Given the description of an element on the screen output the (x, y) to click on. 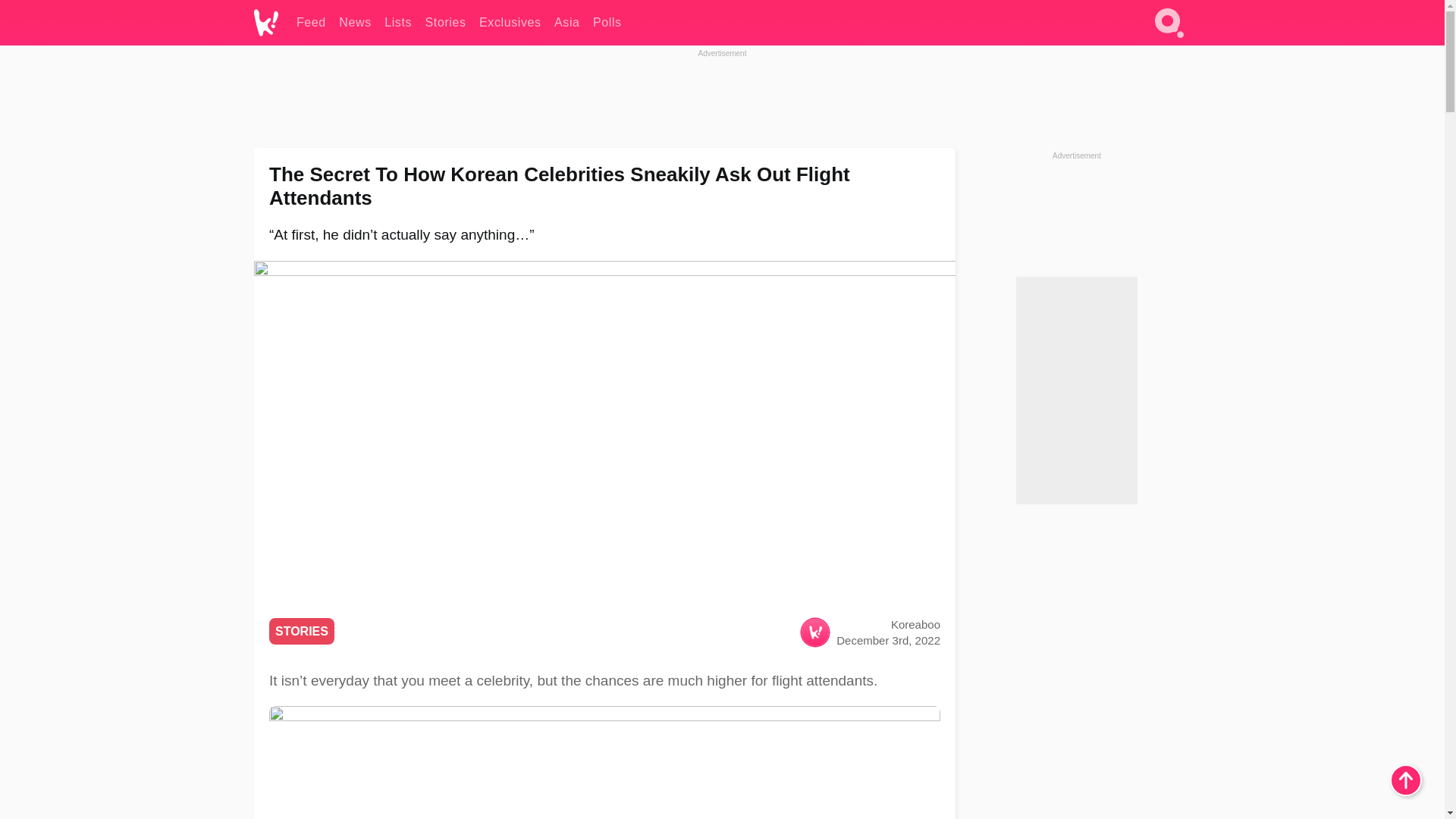
STORIES (301, 631)
Stories (445, 22)
Asia (566, 22)
Lists (398, 22)
Exclusives (510, 22)
Polls (606, 22)
News (355, 22)
Feed (311, 22)
